Given the description of an element on the screen output the (x, y) to click on. 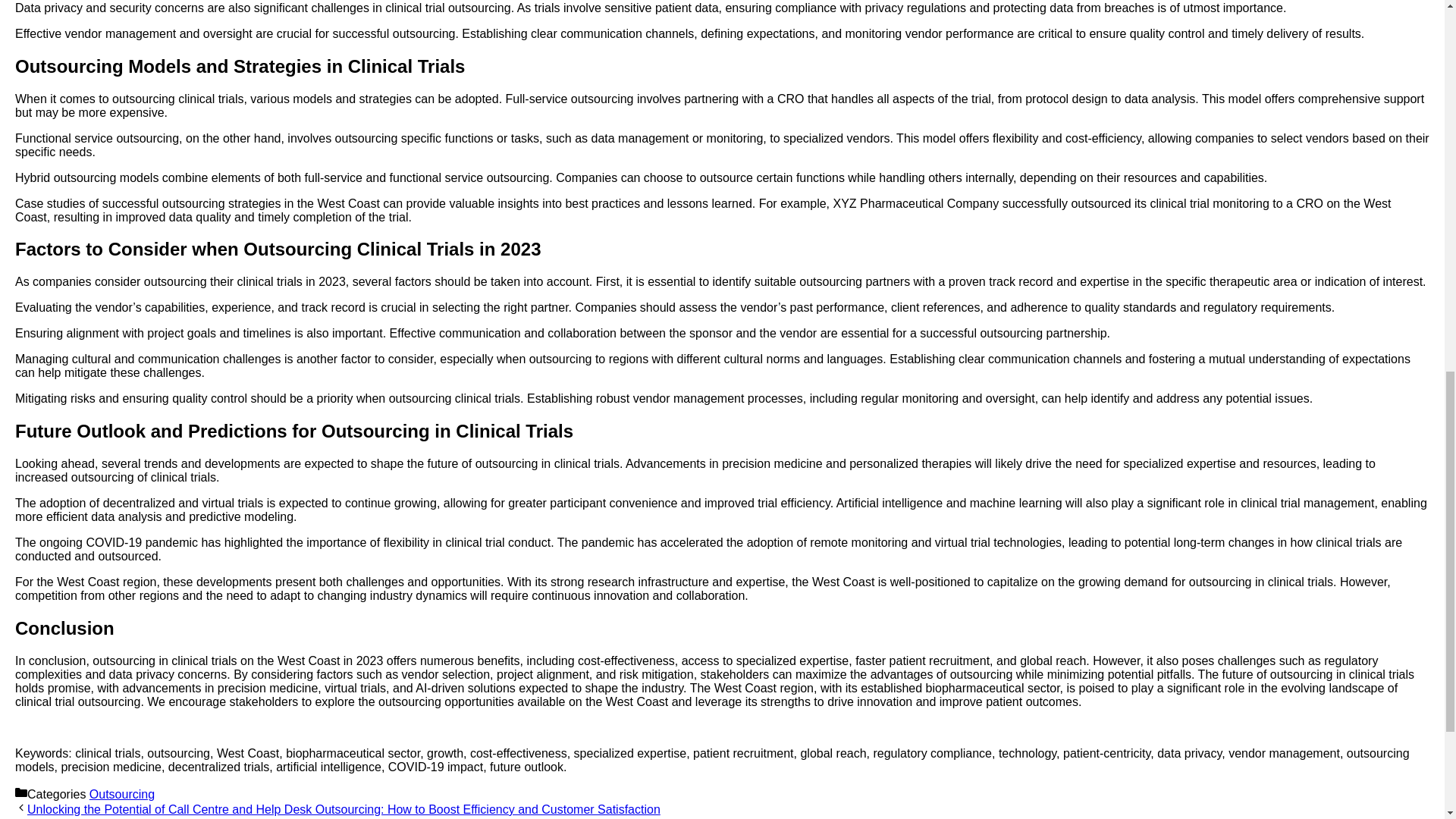
Outsourcing (121, 793)
